Given the description of an element on the screen output the (x, y) to click on. 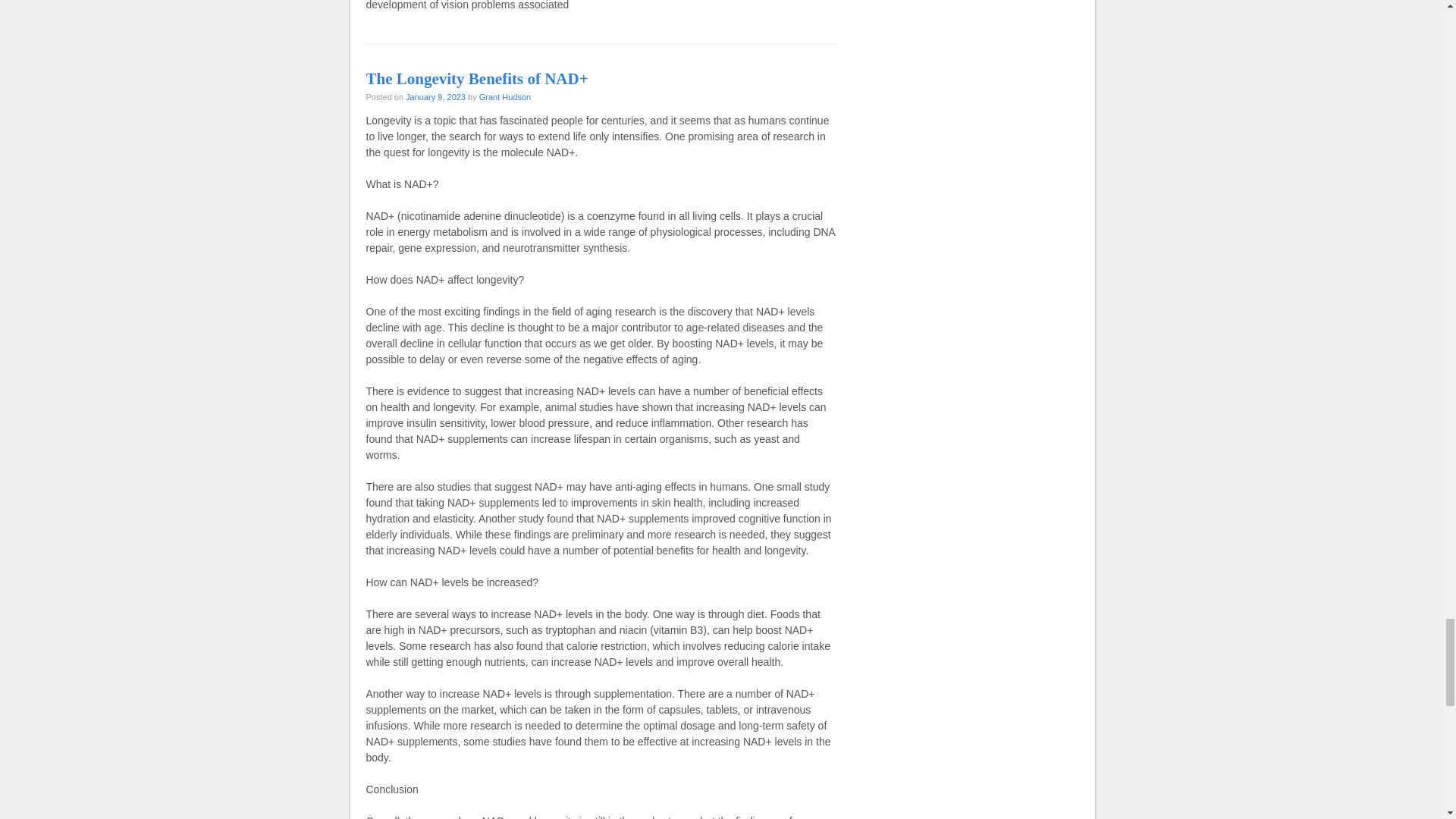
January 9, 2023 (435, 96)
Grant Hudson (505, 96)
